Given the description of an element on the screen output the (x, y) to click on. 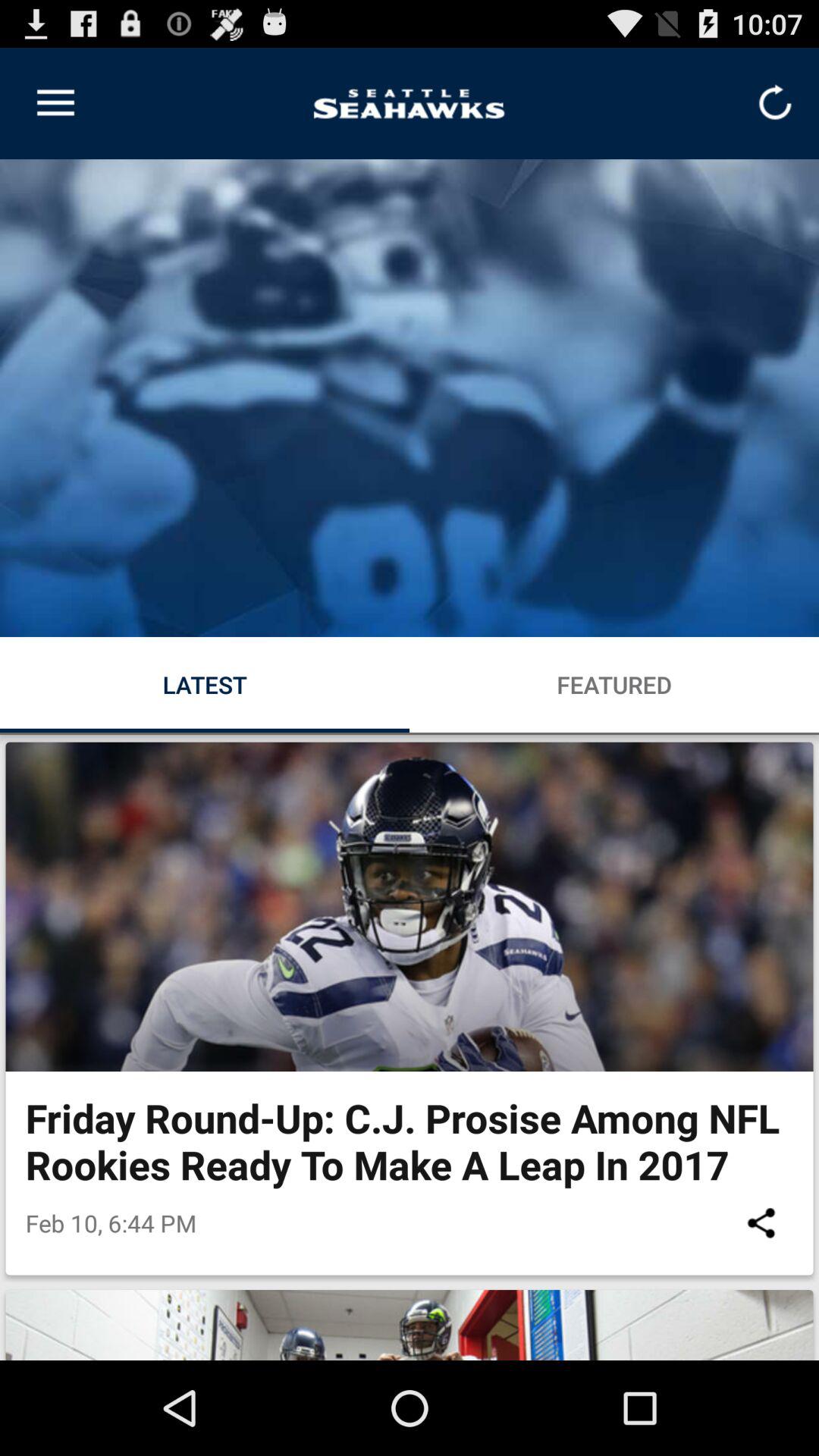
click the item below friday round up icon (761, 1222)
